Given the description of an element on the screen output the (x, y) to click on. 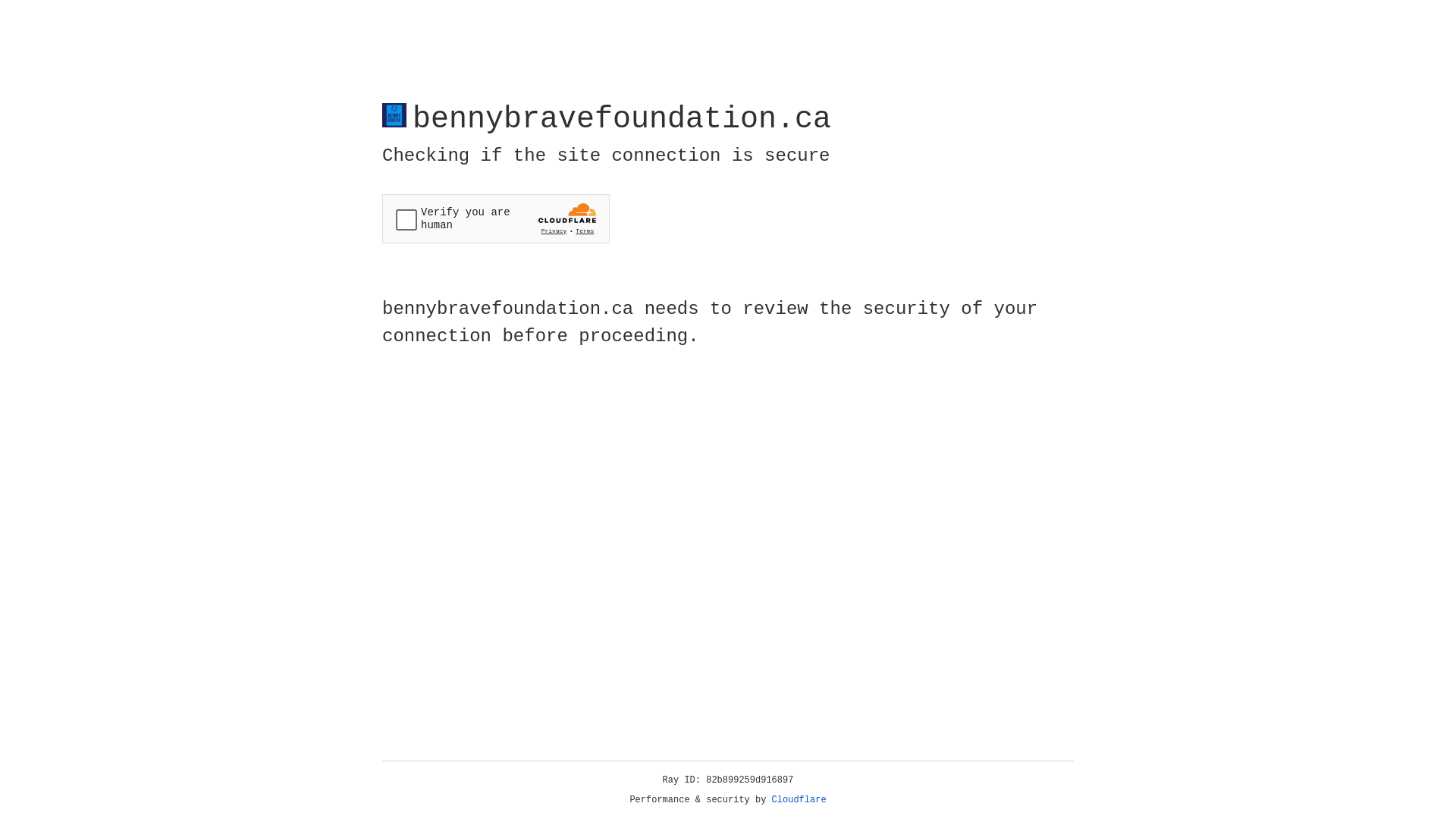
Widget containing a Cloudflare security challenge Element type: hover (495, 218)
Cloudflare Element type: text (798, 799)
